Given the description of an element on the screen output the (x, y) to click on. 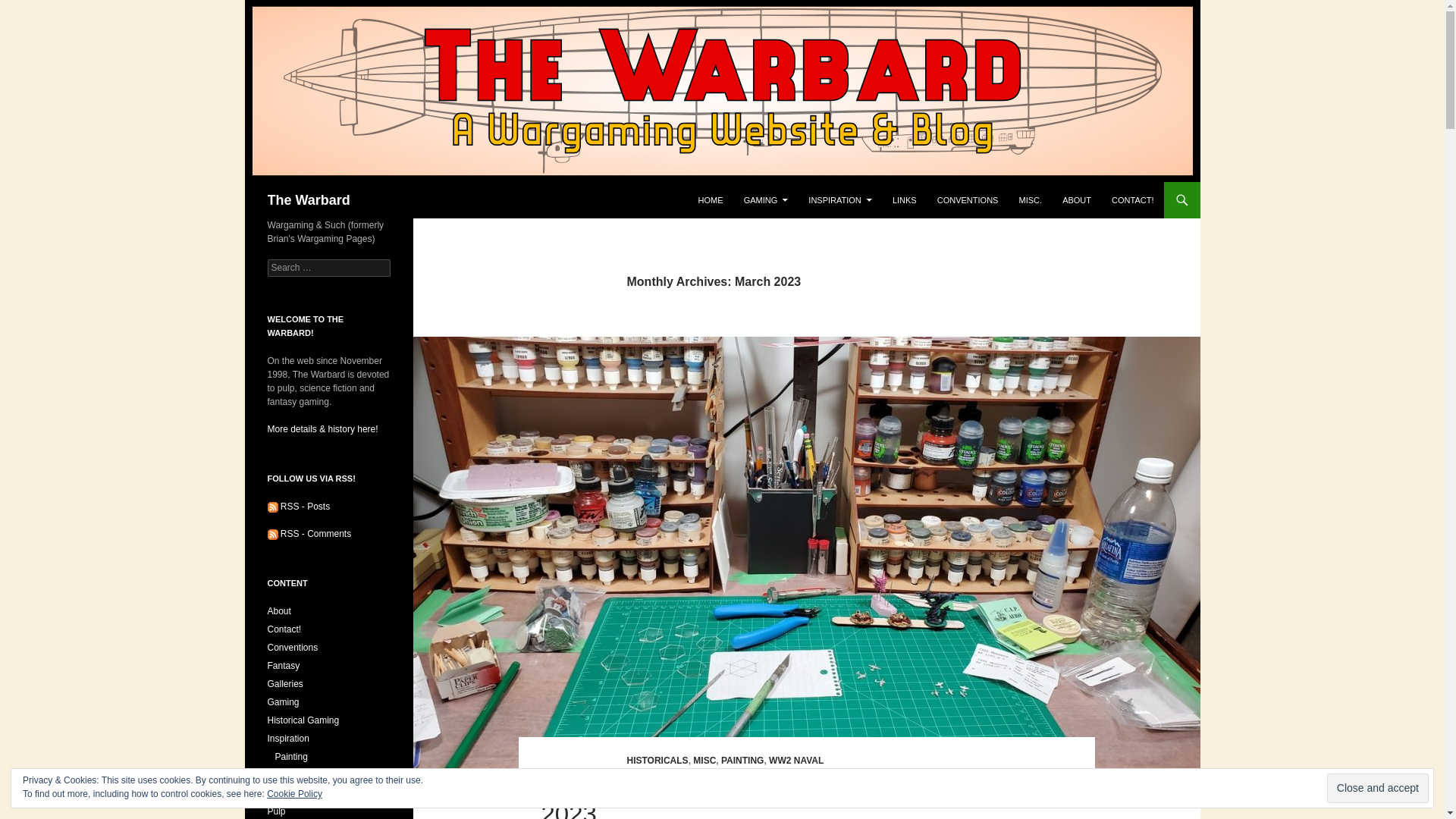
LINKS (904, 199)
Close and accept (1377, 788)
CONVENTIONS (967, 199)
HOME (710, 199)
MISC. (1030, 199)
PAINTING (741, 760)
THE WORKBENCH THIS WEEK, 28 MARCH 2023 (794, 796)
INSPIRATION (839, 199)
HISTORICALS (656, 760)
ABOUT (1076, 199)
Subscribe to posts (298, 506)
CONTACT! (1131, 199)
WW2 NAVAL (796, 760)
The Warbard (307, 199)
